Given the description of an element on the screen output the (x, y) to click on. 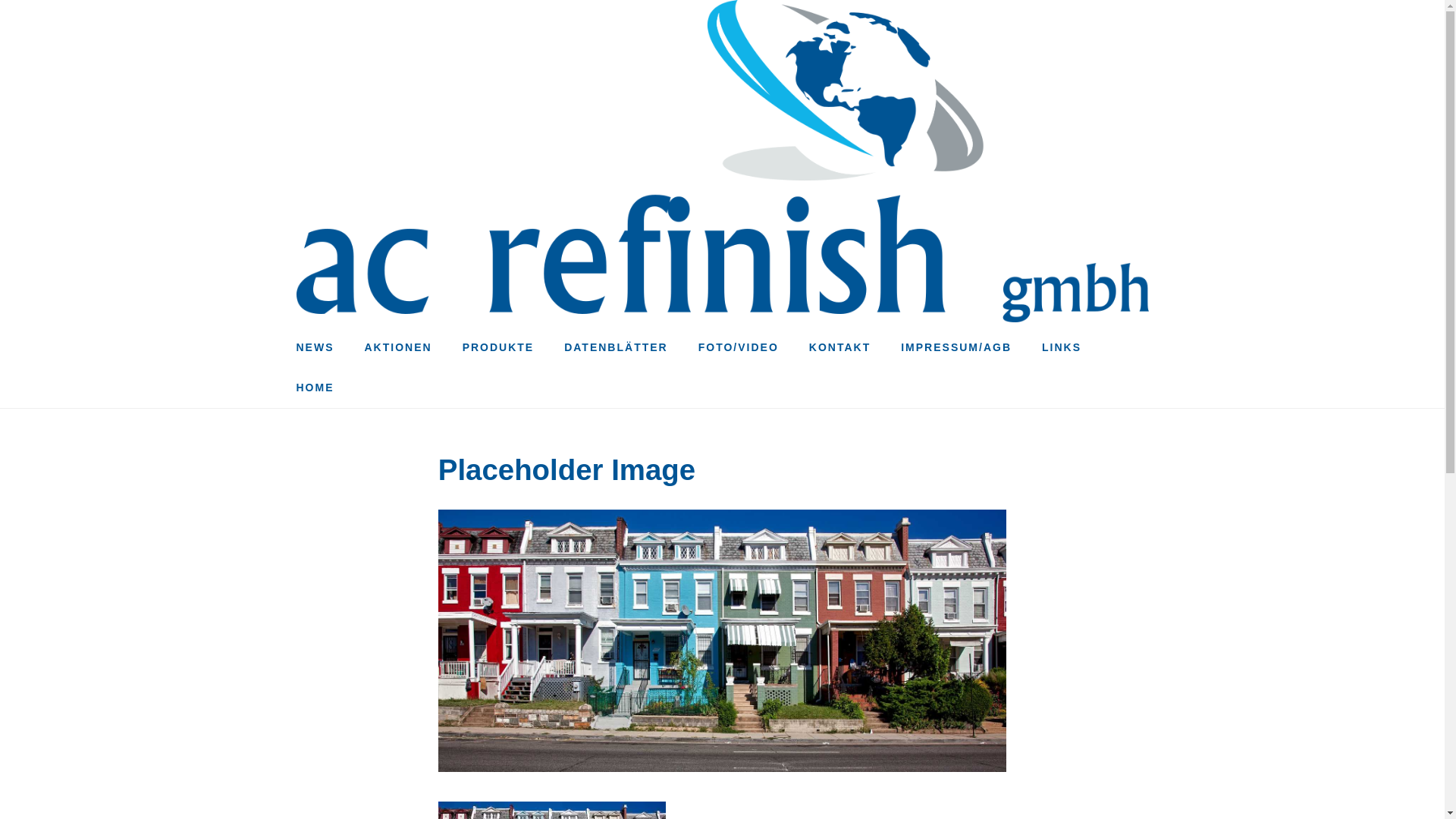
PRODUKTE Element type: text (498, 347)
IMPRESSUM/AGB Element type: text (955, 347)
HOME Element type: text (314, 387)
FOTO/VIDEO Element type: text (738, 347)
AKTIONEN Element type: text (397, 347)
NEWS Element type: text (314, 347)
KONTAKT Element type: text (839, 347)
LINKS Element type: text (1061, 347)
